Given the description of an element on the screen output the (x, y) to click on. 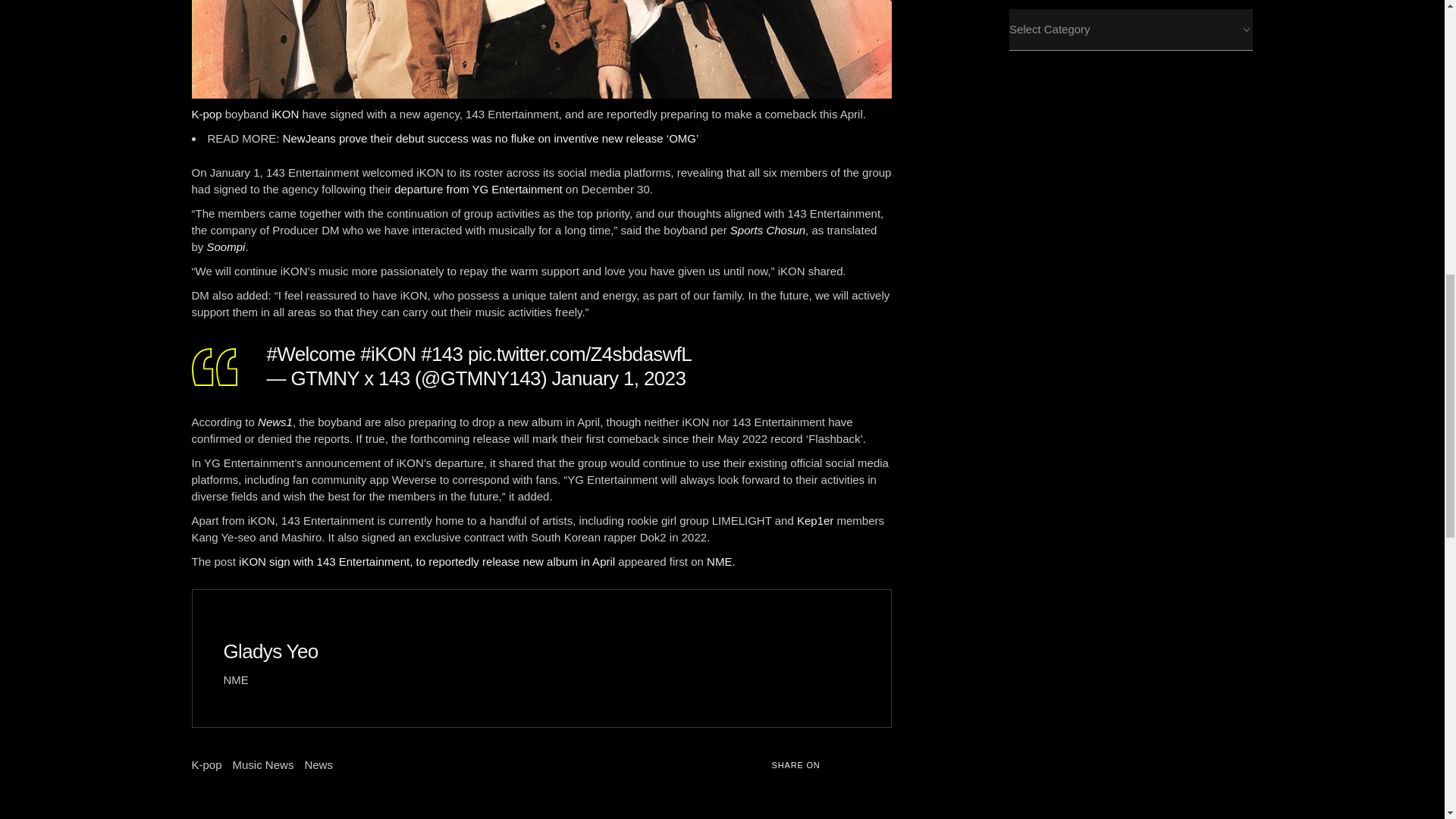
iKON (284, 113)
Read other posts by Gladys Yeo (269, 650)
Sports Chosun (767, 229)
Soompi (226, 246)
departure from YG Entertainment (478, 188)
K-pop (205, 113)
